Given the description of an element on the screen output the (x, y) to click on. 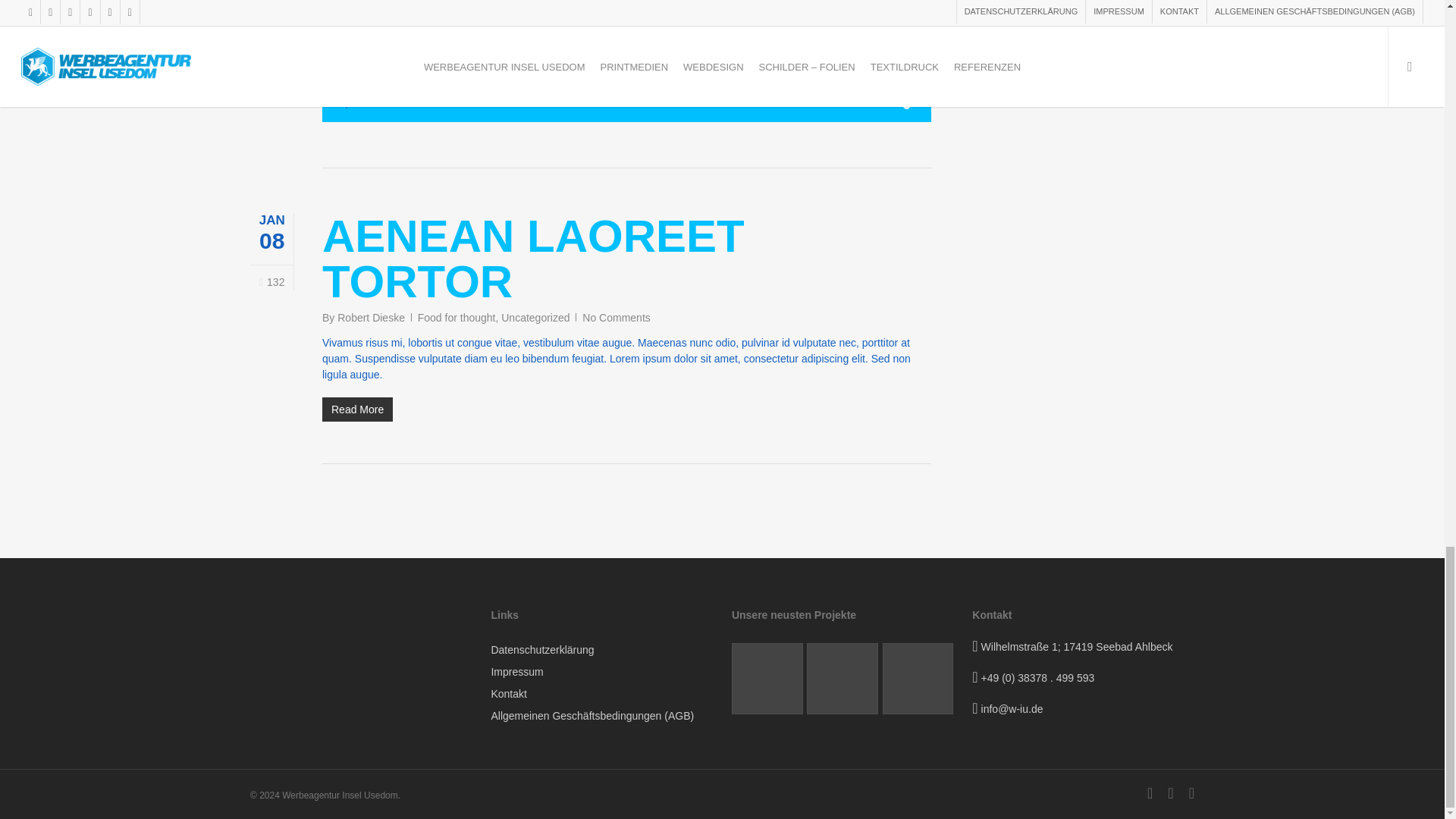
ray ban sunglasses (587, 38)
Visitenkarten Mietrad Usedom (767, 678)
Love this (271, 282)
cheap oakleys (607, 30)
hockey jerseys (725, 70)
Visitenkarten Zettelwirtschaft Usedom (841, 678)
